Given the description of an element on the screen output the (x, y) to click on. 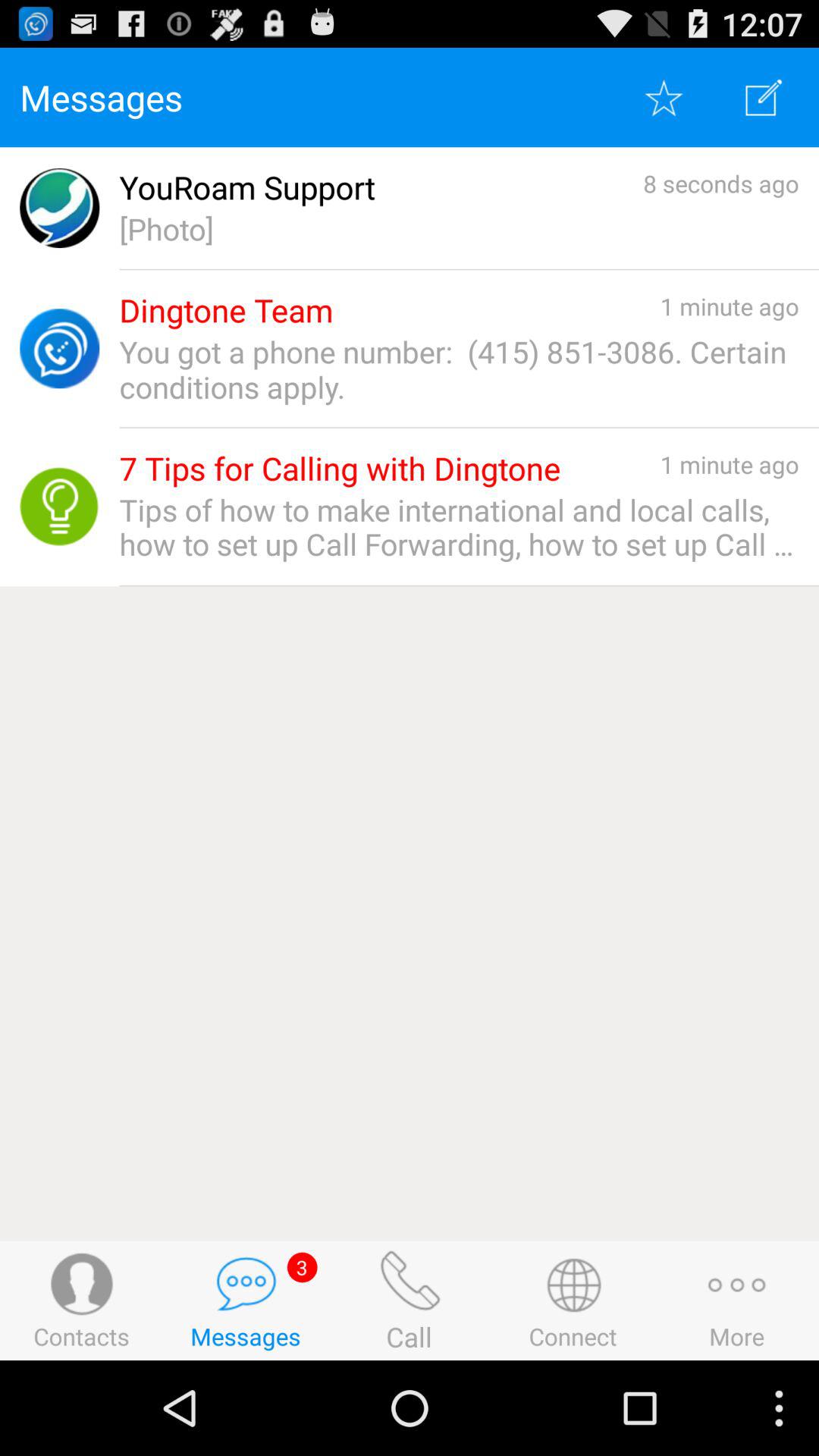
select the app above tips of how app (339, 468)
